Given the description of an element on the screen output the (x, y) to click on. 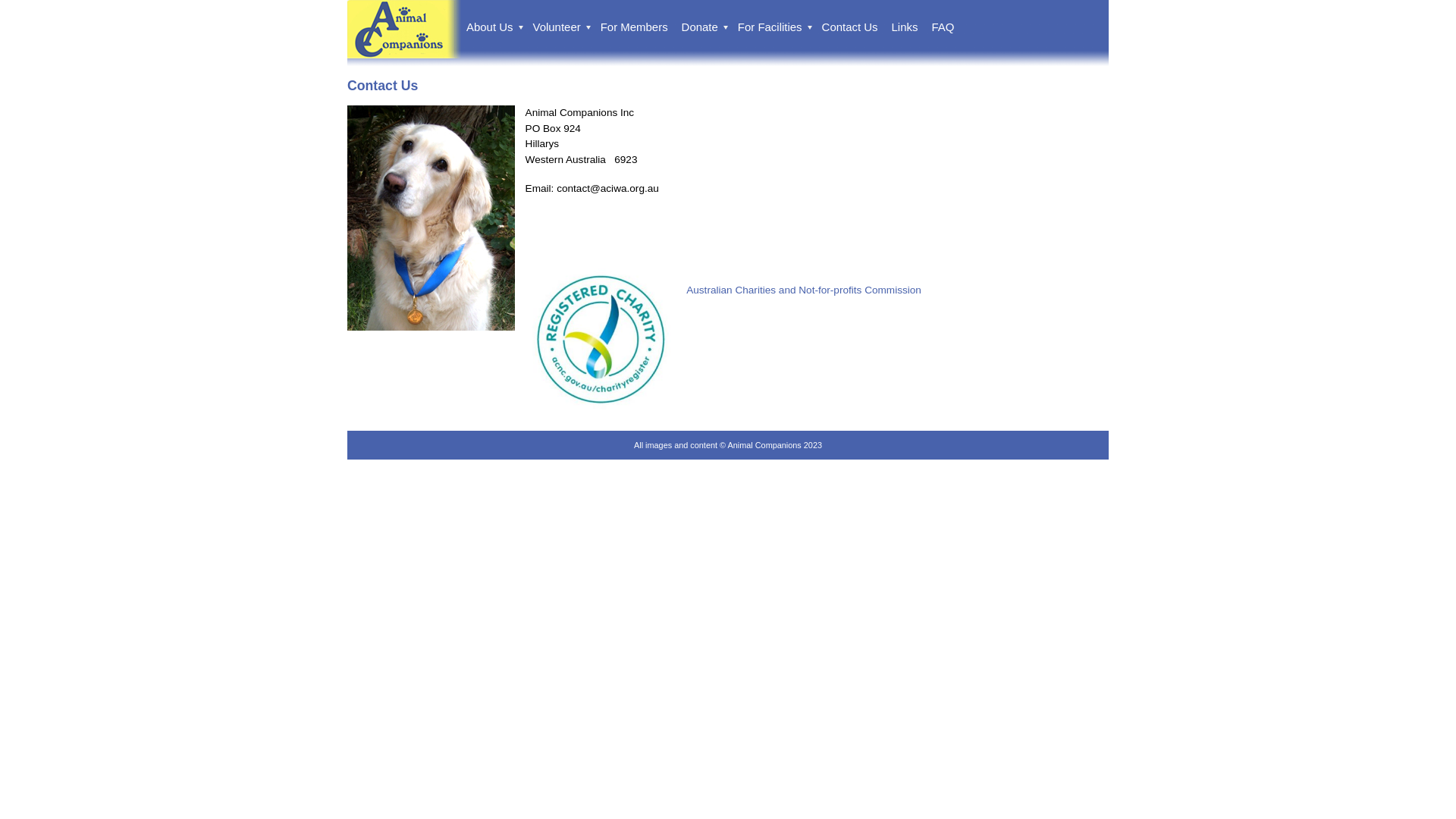
For Members Element type: text (635, 27)
Contact Us Element type: text (851, 27)
About Us Element type: text (494, 27)
For Facilities Element type: text (774, 27)
Volunteer Element type: text (561, 27)
Animal Companions Element type: hover (404, 54)
FAQ Element type: text (943, 27)
Links Element type: text (906, 27)
Donate Element type: text (704, 27)
Australian Charities and Not-for-profits Commission Element type: text (803, 289)
